Given the description of an element on the screen output the (x, y) to click on. 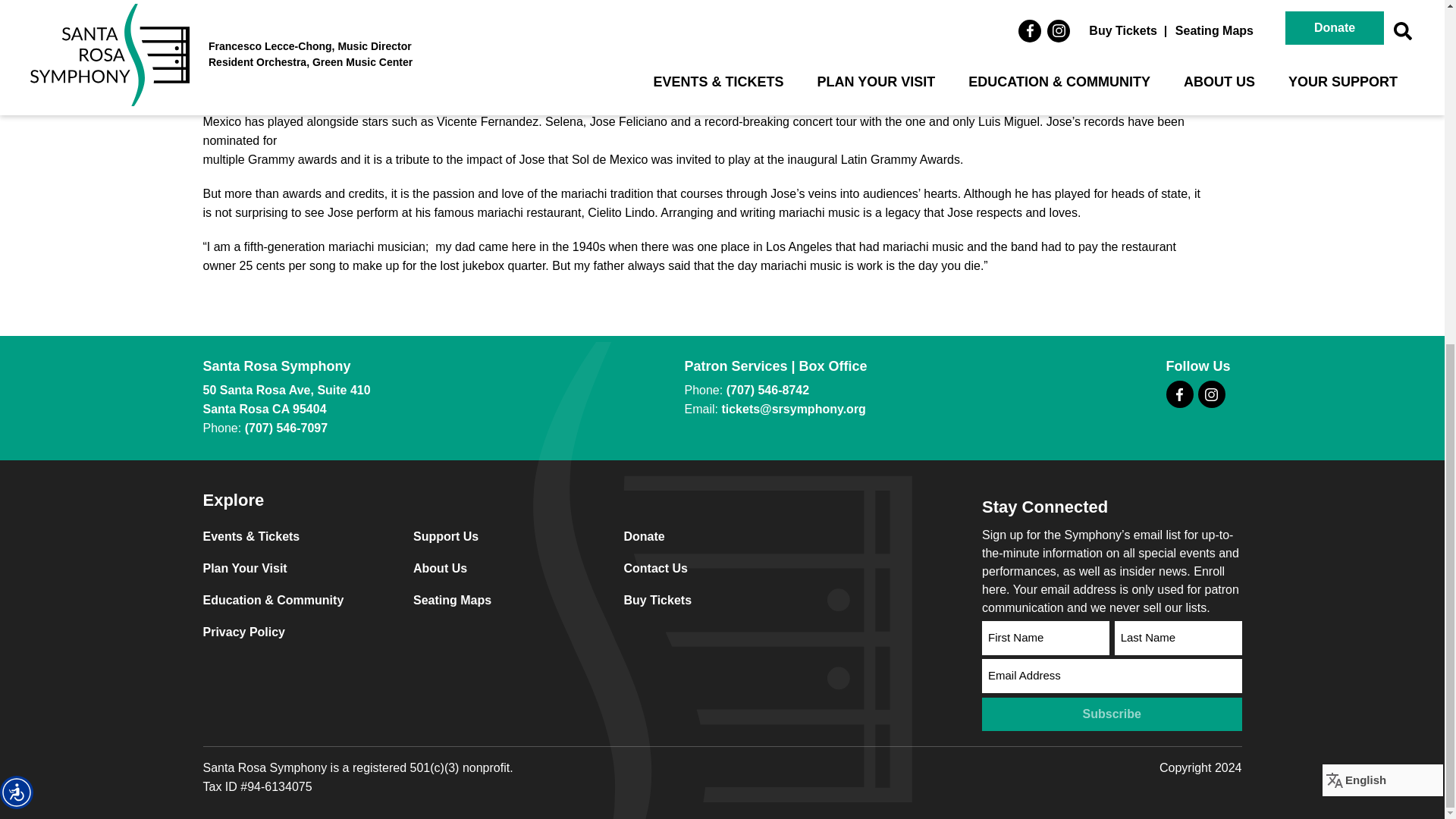
Accessibility Menu (16, 203)
Subscribe (1111, 714)
